Given the description of an element on the screen output the (x, y) to click on. 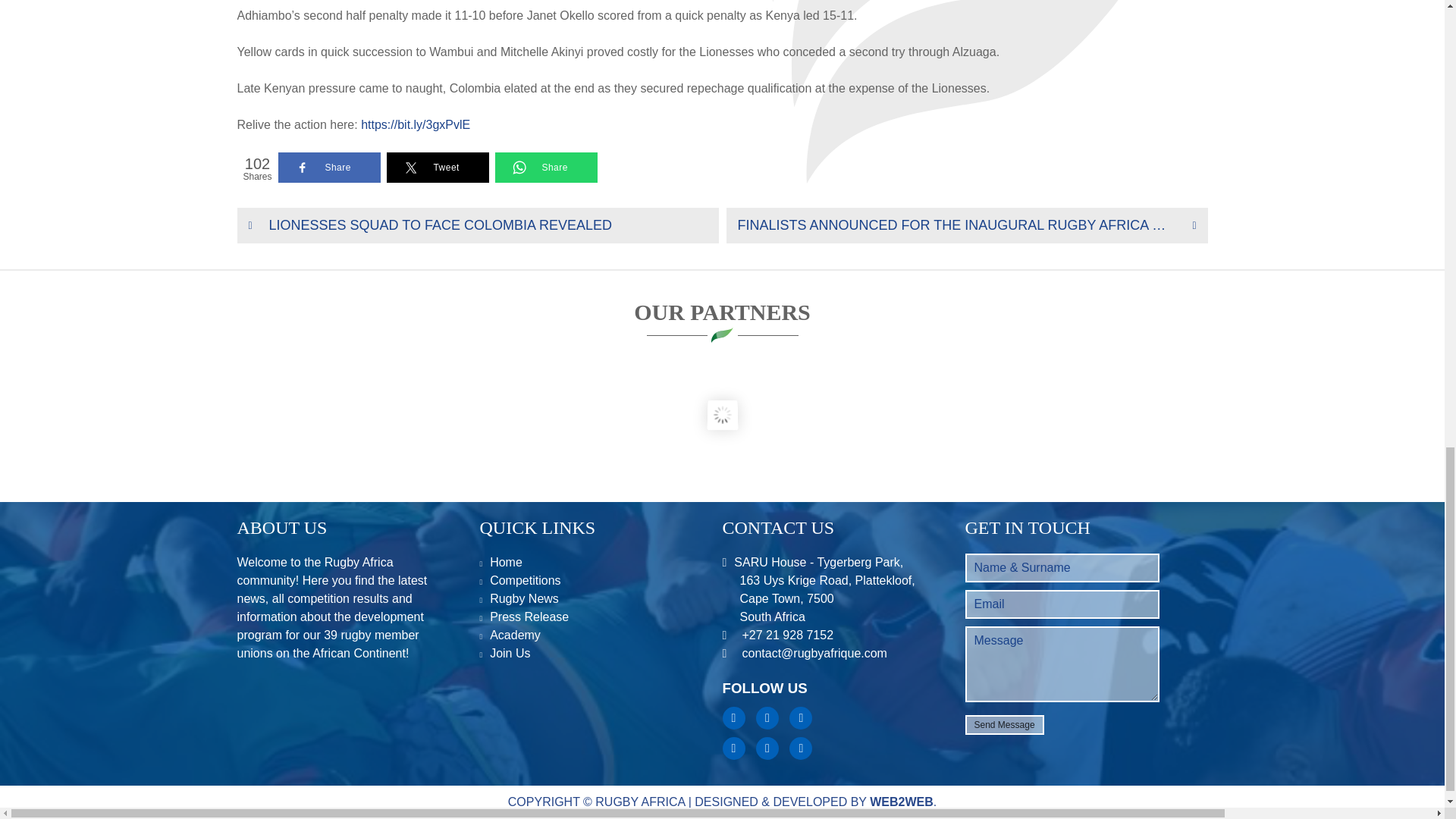
Send Message (1003, 724)
